Given the description of an element on the screen output the (x, y) to click on. 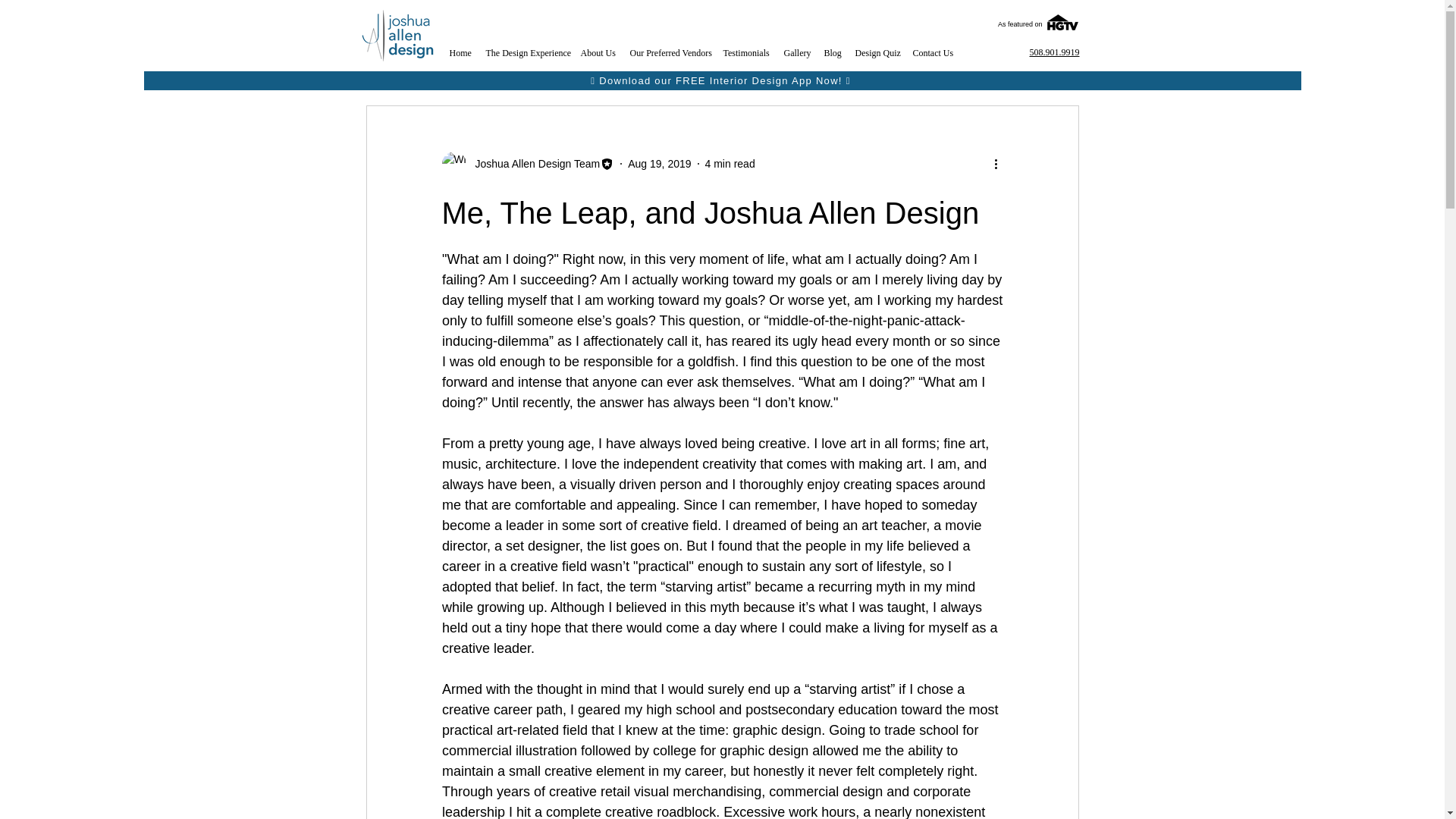
Our Preferred Vendors (667, 52)
hgtv-2-02.png (1061, 22)
508.901.9919 (1054, 51)
About Us (598, 52)
The Design Experience (524, 52)
Aug 19, 2019 (658, 163)
Design Quiz (876, 52)
Joshua Allen Design Team (532, 163)
Home (459, 52)
Testimonials (746, 52)
